Given the description of an element on the screen output the (x, y) to click on. 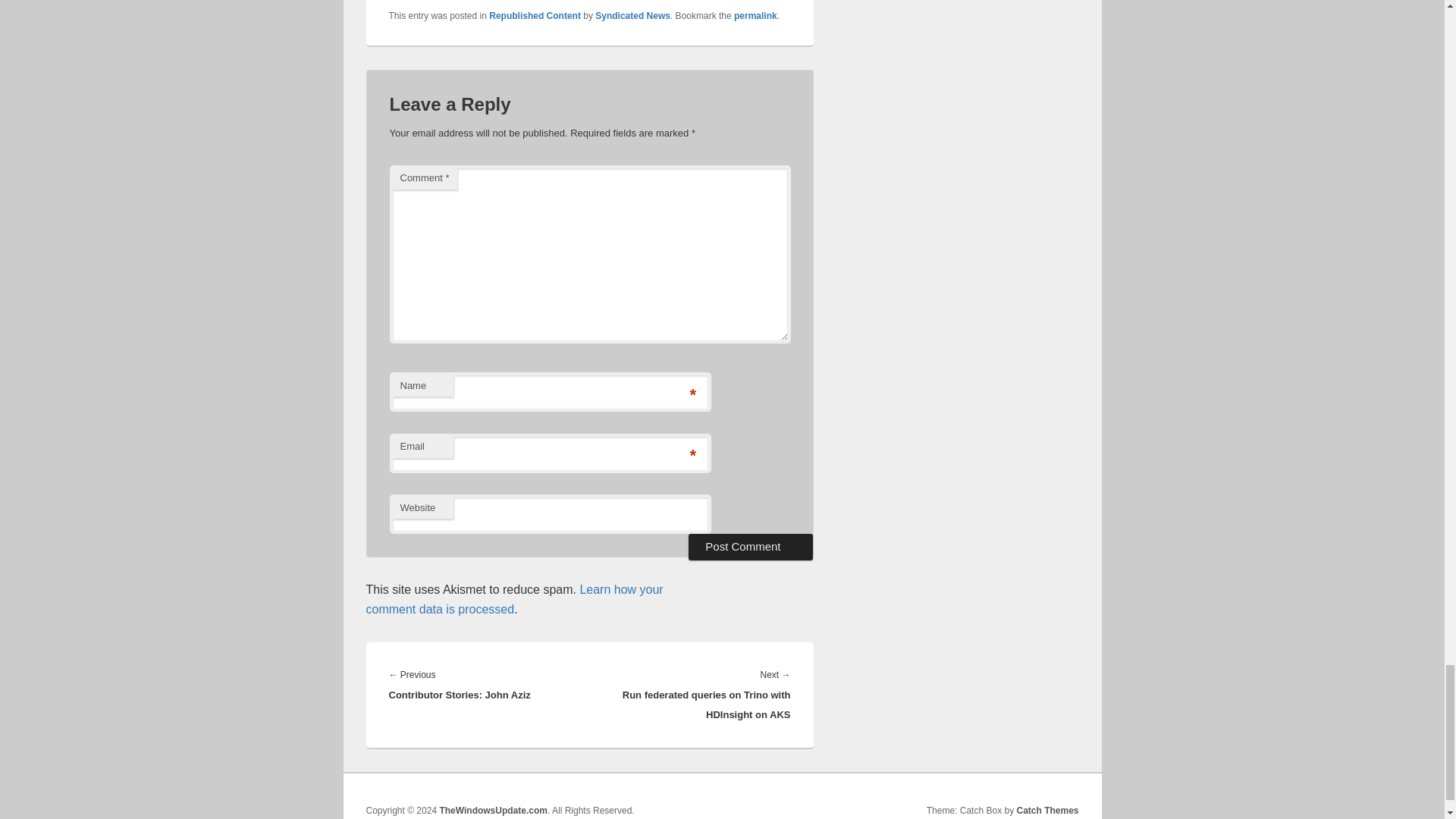
Syndicated News (632, 15)
Post Comment (750, 546)
permalink (755, 15)
Post Comment (750, 546)
Learn how your comment data is processed (513, 599)
Catch Themes (1047, 810)
TheWindowsUpdate.com (493, 810)
Republished Content (534, 15)
